Given the description of an element on the screen output the (x, y) to click on. 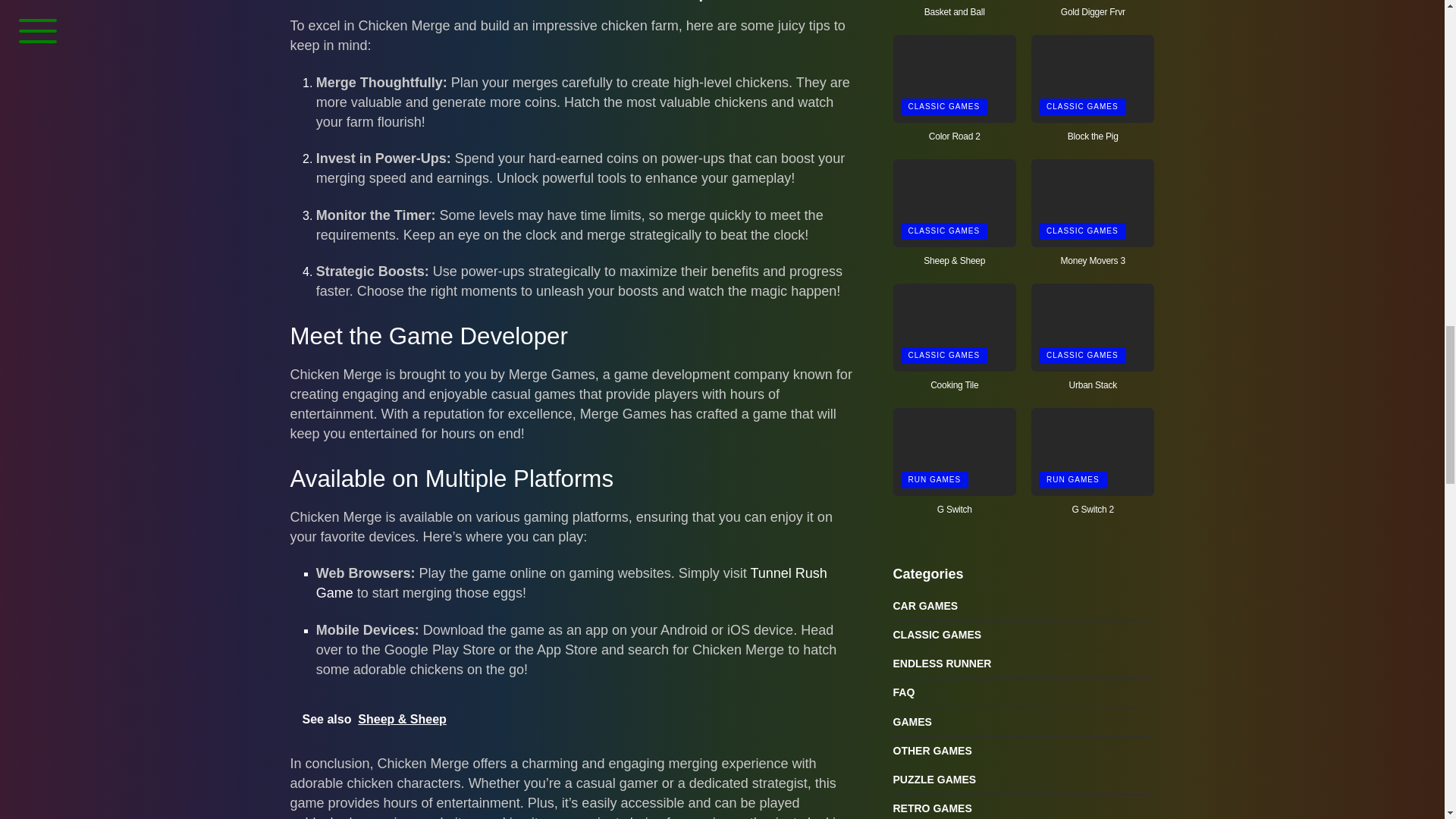
Tunnel Rush Game (571, 582)
